Given the description of an element on the screen output the (x, y) to click on. 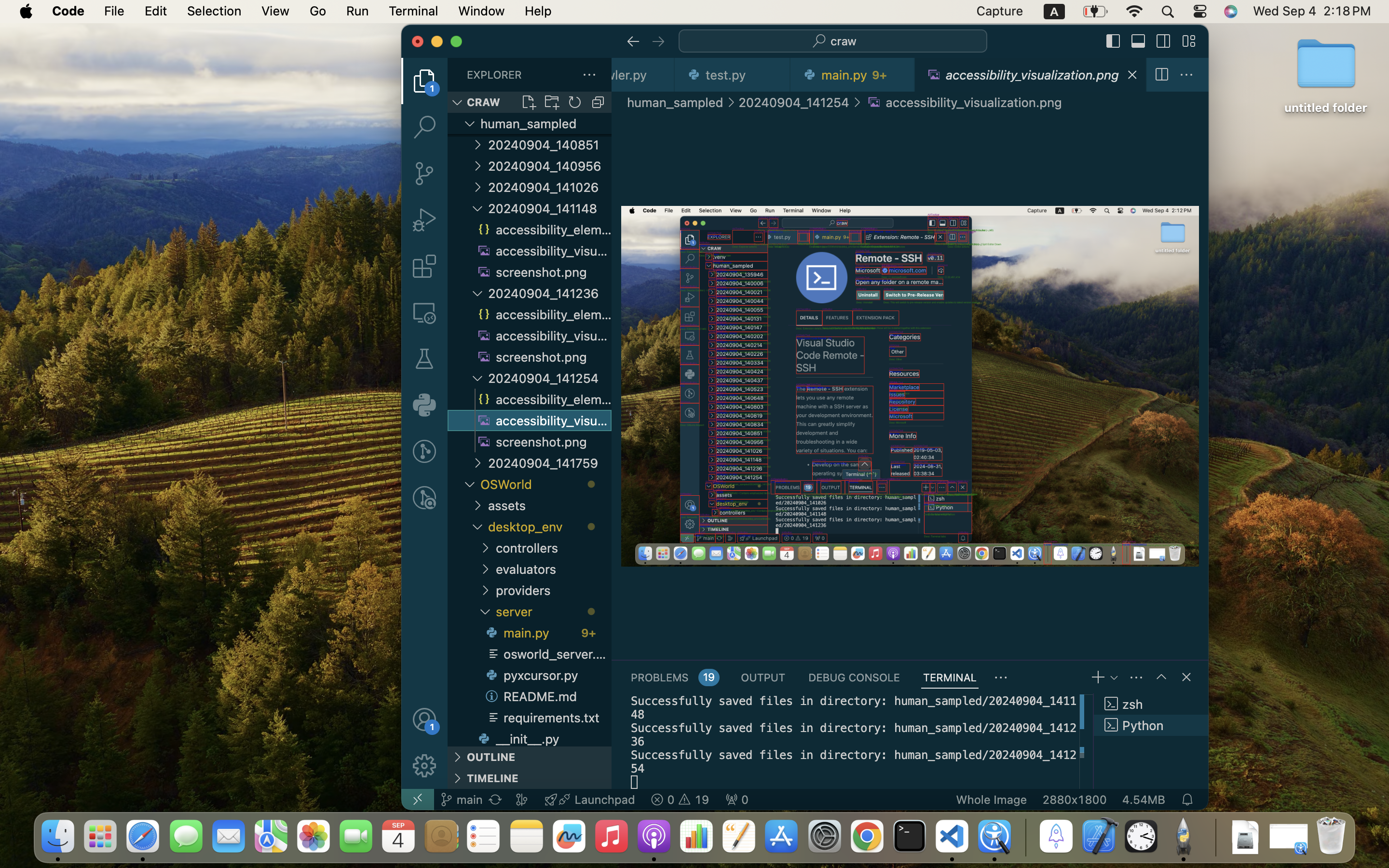
0.4285714328289032 Element type: AXDockItem (1024, 836)
 Element type: AXGroup (424, 497)
 Element type: AXStaticText (856, 101)
0  Element type: AXRadioButton (424, 358)
main  Element type: AXButton (461, 799)
